Given the description of an element on the screen output the (x, y) to click on. 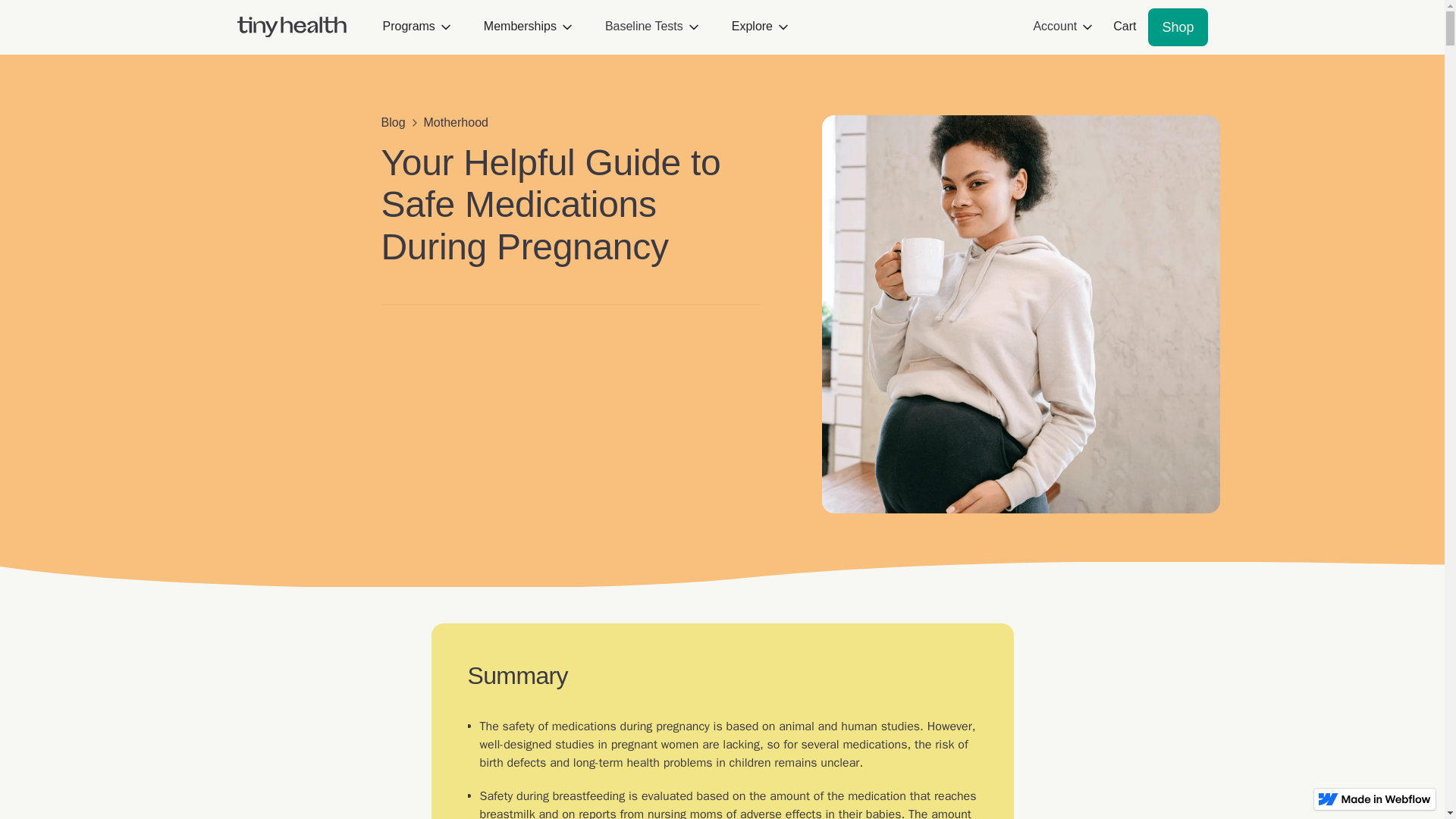
Baseline Tests (643, 27)
